Given the description of an element on the screen output the (x, y) to click on. 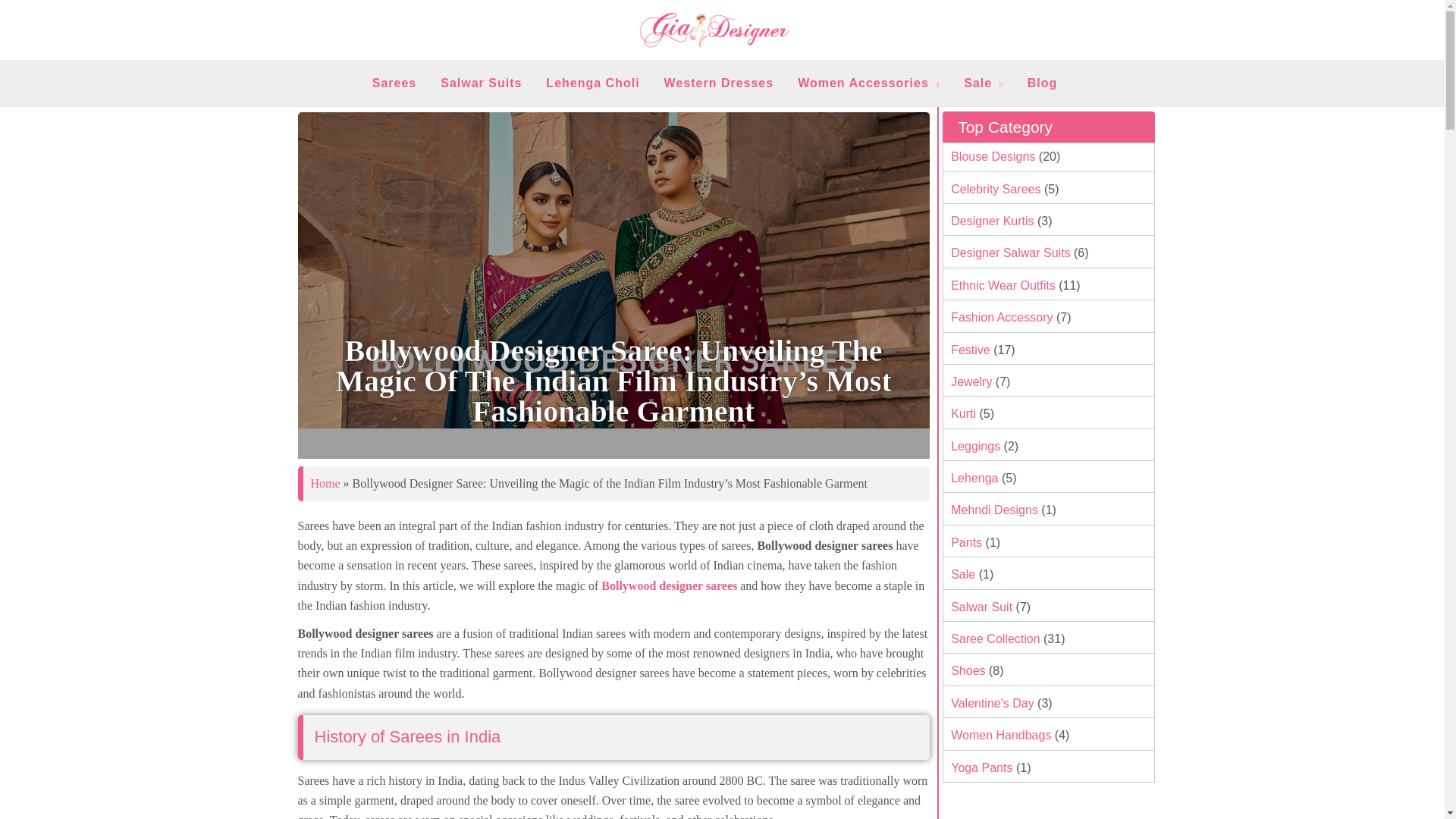
Home (325, 482)
Women Accessories (869, 83)
Sarees (394, 83)
Blouse Designs (991, 155)
Designer Salwar Suits (1008, 252)
Sale (983, 83)
Celebrity Sarees (994, 188)
Salwar Suits (481, 83)
Lehenga Choli (592, 83)
Bollywood designer sarees (668, 585)
